Given the description of an element on the screen output the (x, y) to click on. 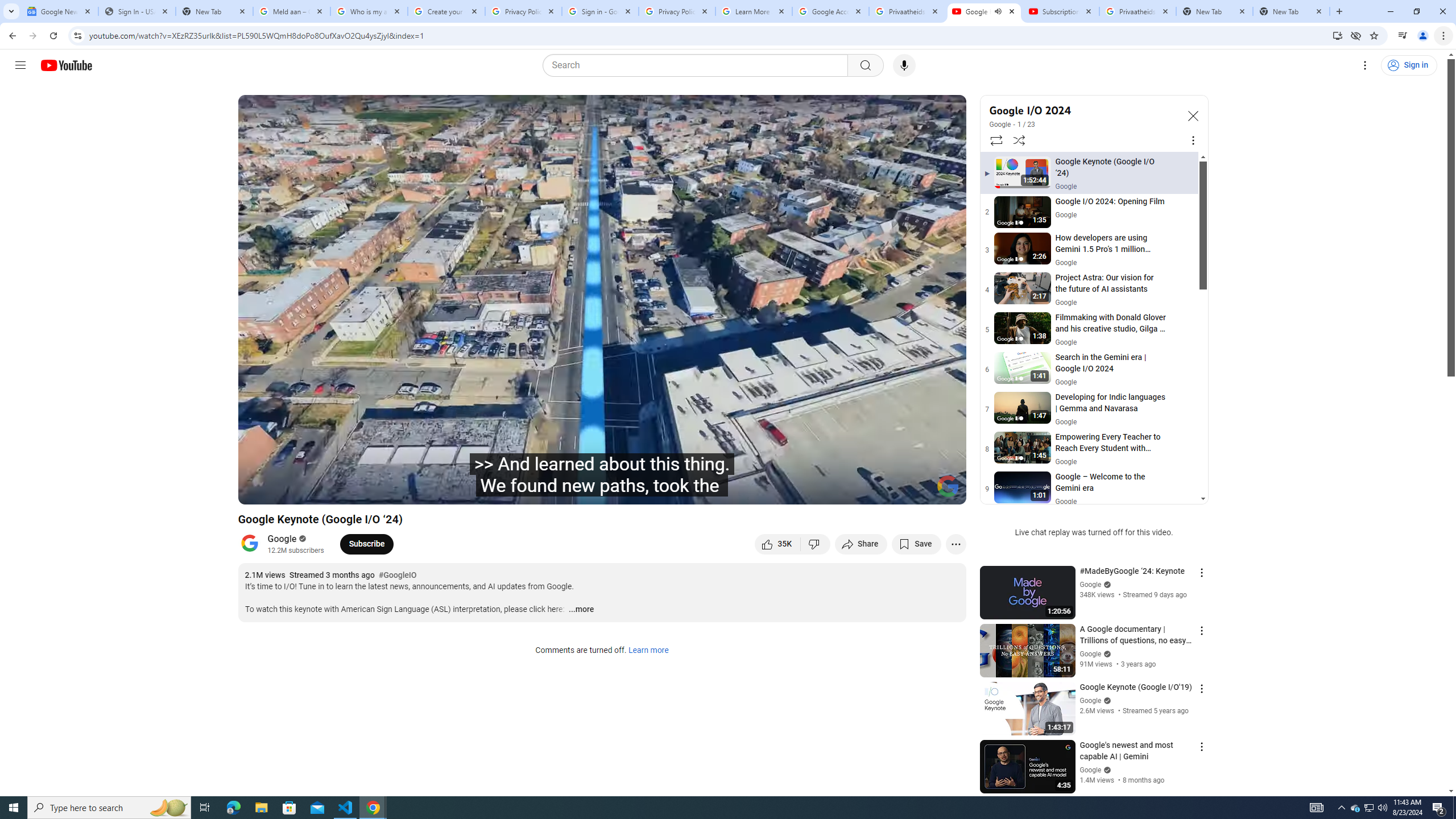
Miniplayer (i) (890, 490)
Subscriptions - YouTube (1061, 11)
Google I/O 2024 (1082, 109)
Play (k) (285, 490)
Previous (SHIFT+p) (259, 490)
